Given the description of an element on the screen output the (x, y) to click on. 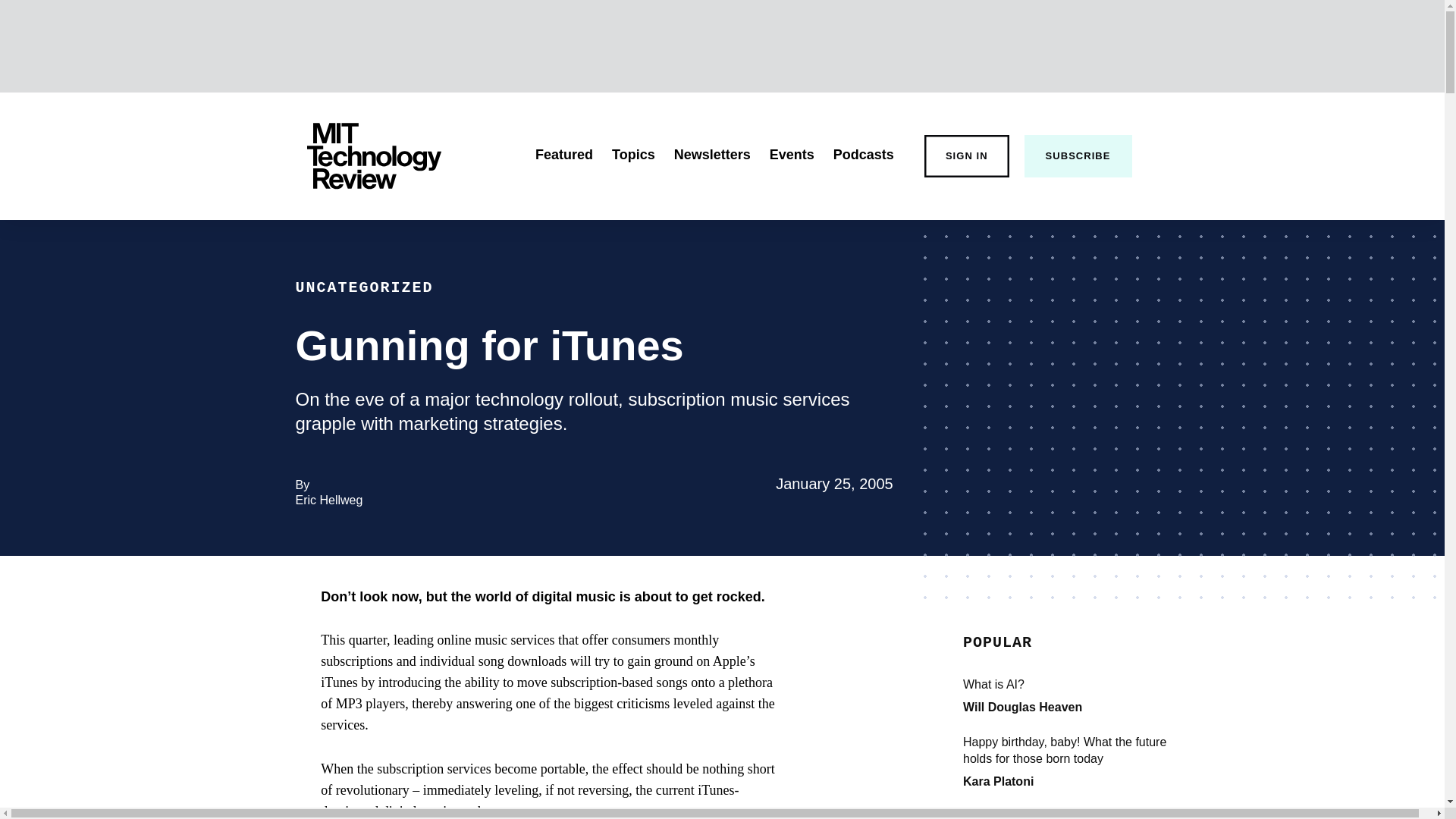
SIGN IN (966, 156)
Events (791, 154)
Topics (633, 154)
UNCATEGORIZED (364, 287)
Newsletters (712, 154)
Will Douglas Heaven (1021, 707)
What is AI? (1075, 684)
Kara Platoni (997, 780)
Podcasts (862, 154)
What are AI agents?  (1075, 813)
